Given the description of an element on the screen output the (x, y) to click on. 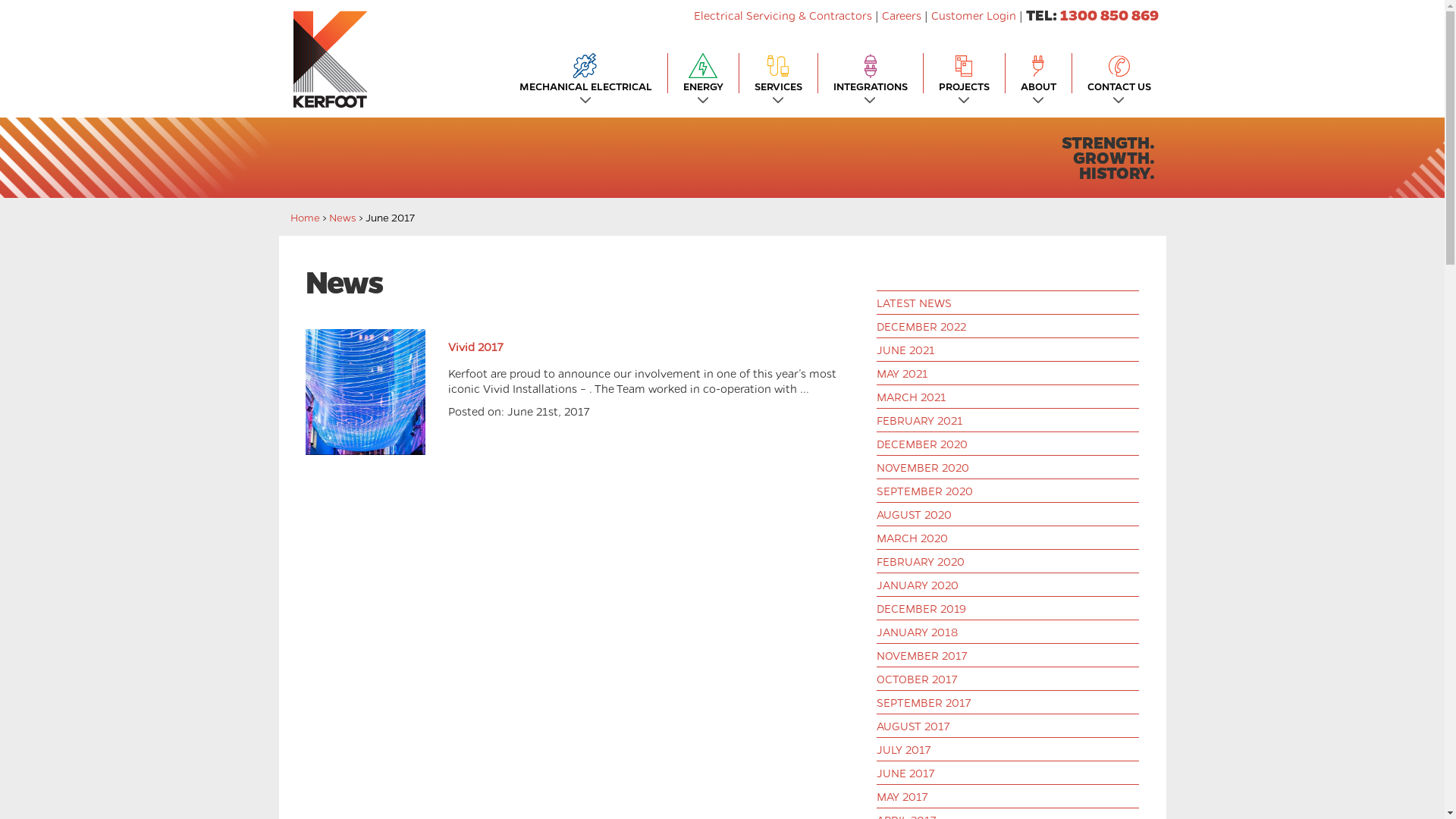
MAY 2017 Element type: text (901, 795)
DECEMBER 2020 Element type: text (921, 443)
News Element type: text (342, 216)
FEBRUARY 2020 Element type: text (920, 560)
SEPTEMBER 2020 Element type: text (924, 490)
MARCH 2020 Element type: text (911, 537)
1300 850 869 Element type: text (1109, 14)
Customer Login Element type: text (973, 14)
FEBRUARY 2021 Element type: text (919, 419)
MARCH 2021 Element type: text (911, 396)
Vivid 2017 Element type: text (475, 346)
INTEGRATIONS Element type: text (869, 73)
AUGUST 2017 Element type: text (912, 725)
DECEMBER 2022 Element type: text (921, 325)
Electrical Servicing & Contractors Element type: text (783, 14)
MECHANICAL ELECTRICAL Element type: text (584, 73)
LATEST NEWS Element type: text (913, 302)
OCTOBER 2017 Element type: text (916, 678)
SERVICES Element type: text (777, 73)
JULY 2017 Element type: text (903, 748)
ABOUT Element type: text (1038, 73)
Careers Element type: text (900, 14)
Home Element type: text (304, 216)
SEPTEMBER 2017 Element type: text (923, 701)
NOVEMBER 2020 Element type: text (922, 466)
PROJECTS Element type: text (963, 73)
NOVEMBER 2017 Element type: text (921, 654)
JUNE 2021 Element type: text (905, 349)
JUNE 2017 Element type: text (905, 772)
AUGUST 2020 Element type: text (913, 513)
JANUARY 2020 Element type: text (917, 584)
ENERGY Element type: text (702, 73)
Kerfoot Element type: hover (328, 58)
MAY 2021 Element type: text (902, 372)
DECEMBER 2019 Element type: text (921, 607)
JANUARY 2018 Element type: text (916, 631)
CONTACT US Element type: text (1119, 73)
